Given the description of an element on the screen output the (x, y) to click on. 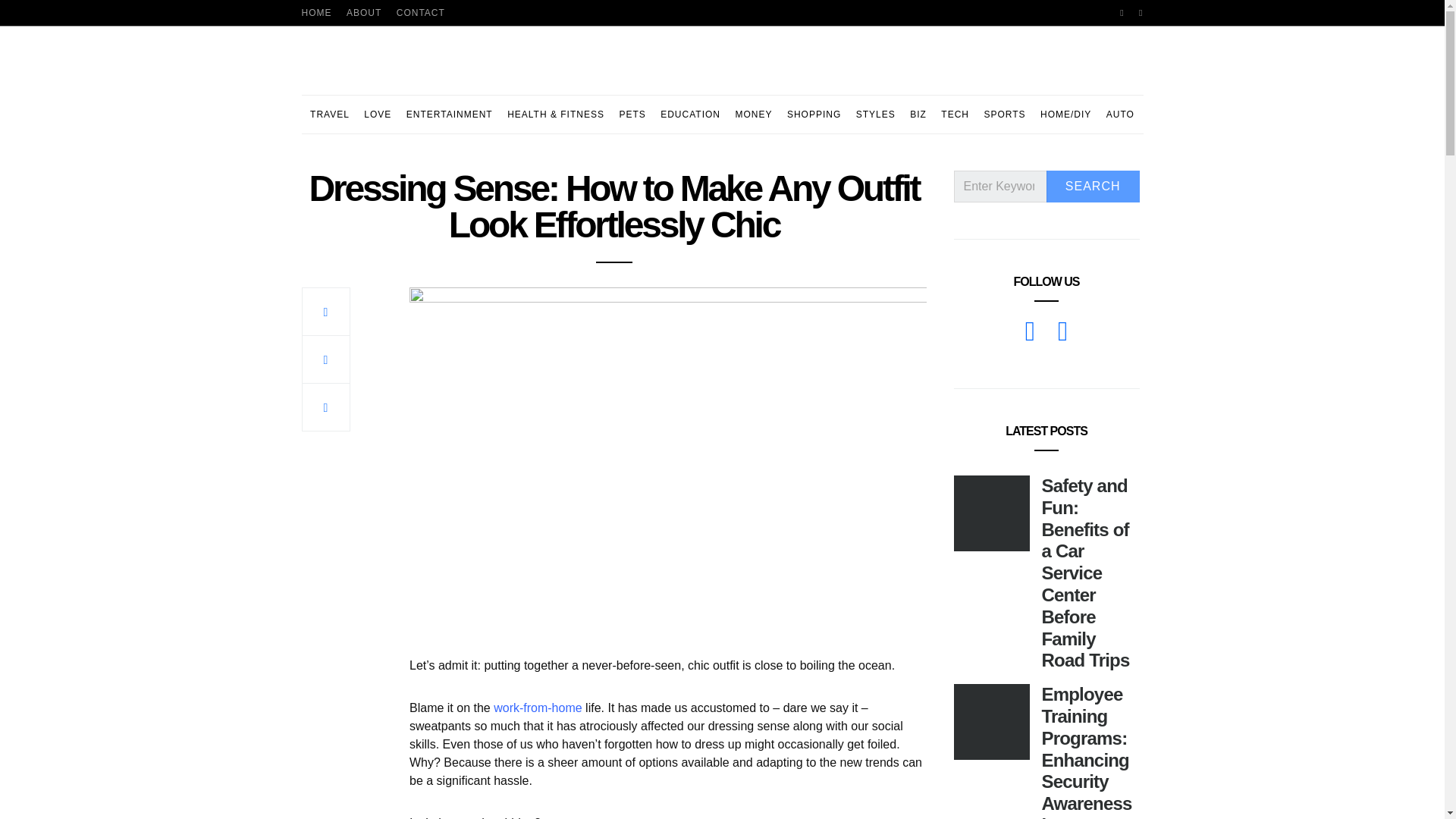
SHOPPING (814, 114)
SPORTS (1004, 114)
ENTERTAINMENT (449, 114)
CONTACT (420, 12)
MONEY (753, 114)
ABOUT (363, 12)
work-from-home (536, 707)
TRAVEL (329, 114)
STYLES (875, 114)
EDUCATION (690, 114)
HOME (316, 12)
